Given the description of an element on the screen output the (x, y) to click on. 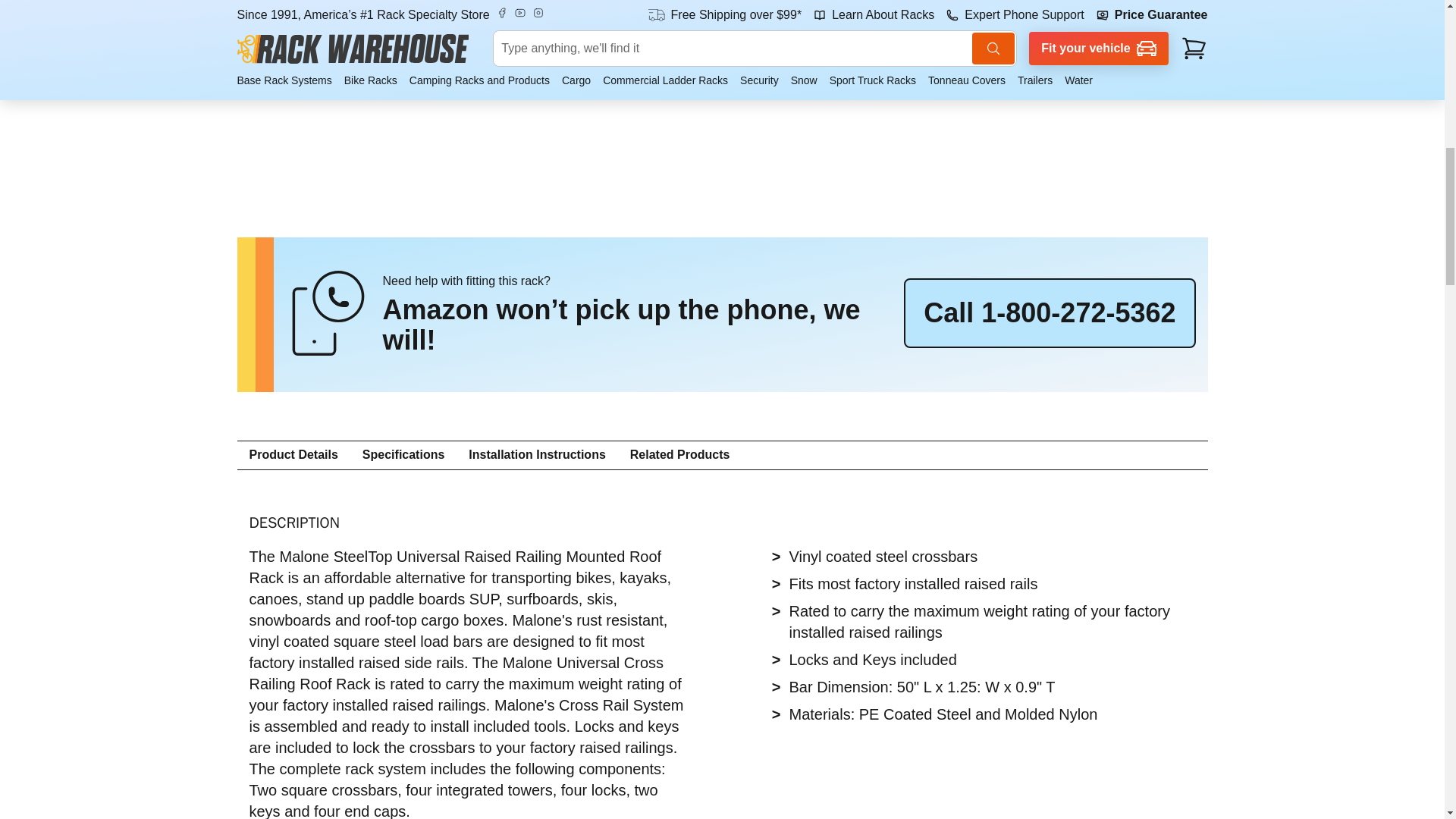
Installation Instructions (536, 455)
Call 1-800-272-5362 (1049, 313)
Specifications (403, 455)
Related Products (680, 455)
Product Details (292, 455)
